Given the description of an element on the screen output the (x, y) to click on. 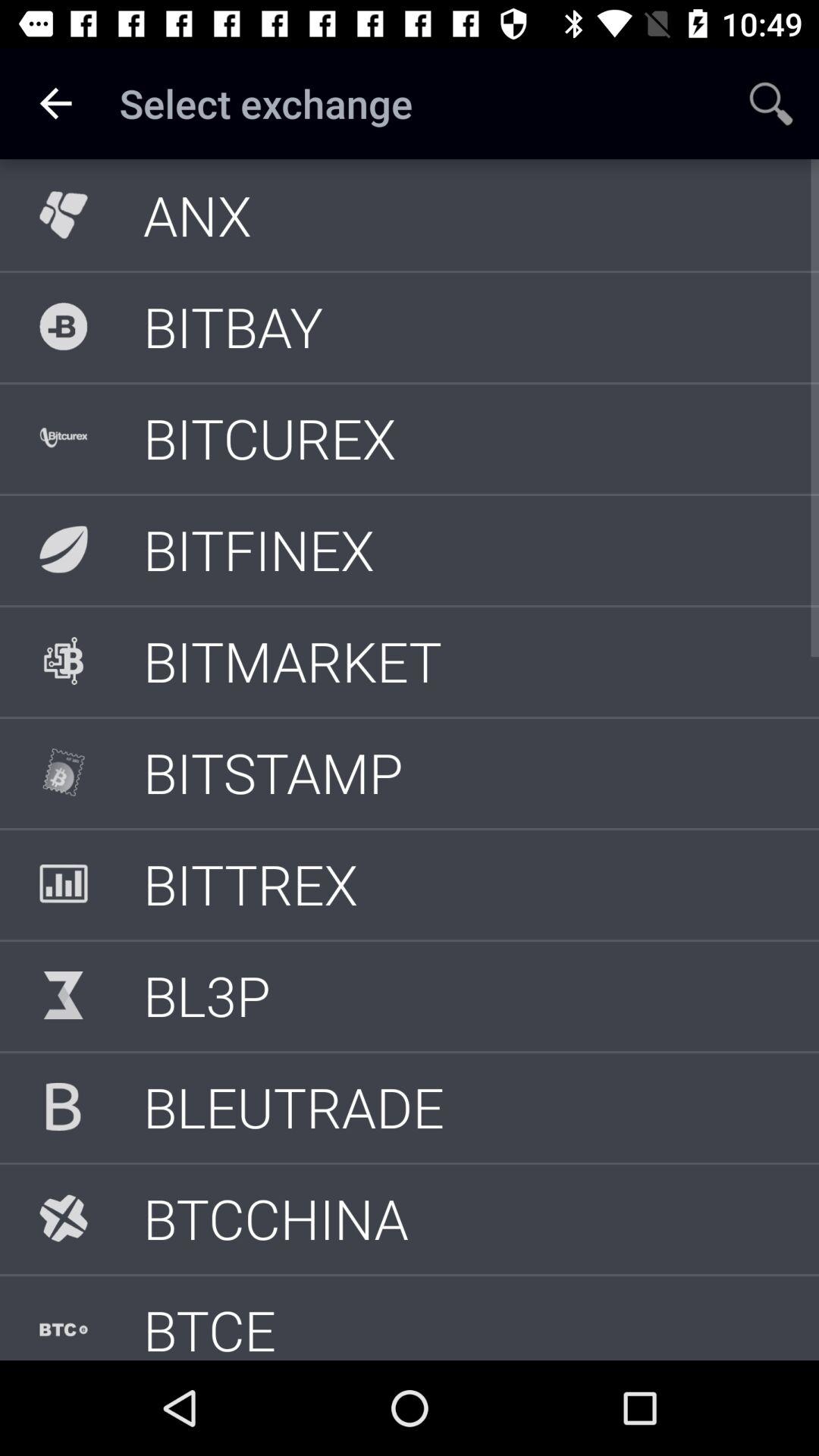
open icon to the left of select exchange (55, 103)
